Given the description of an element on the screen output the (x, y) to click on. 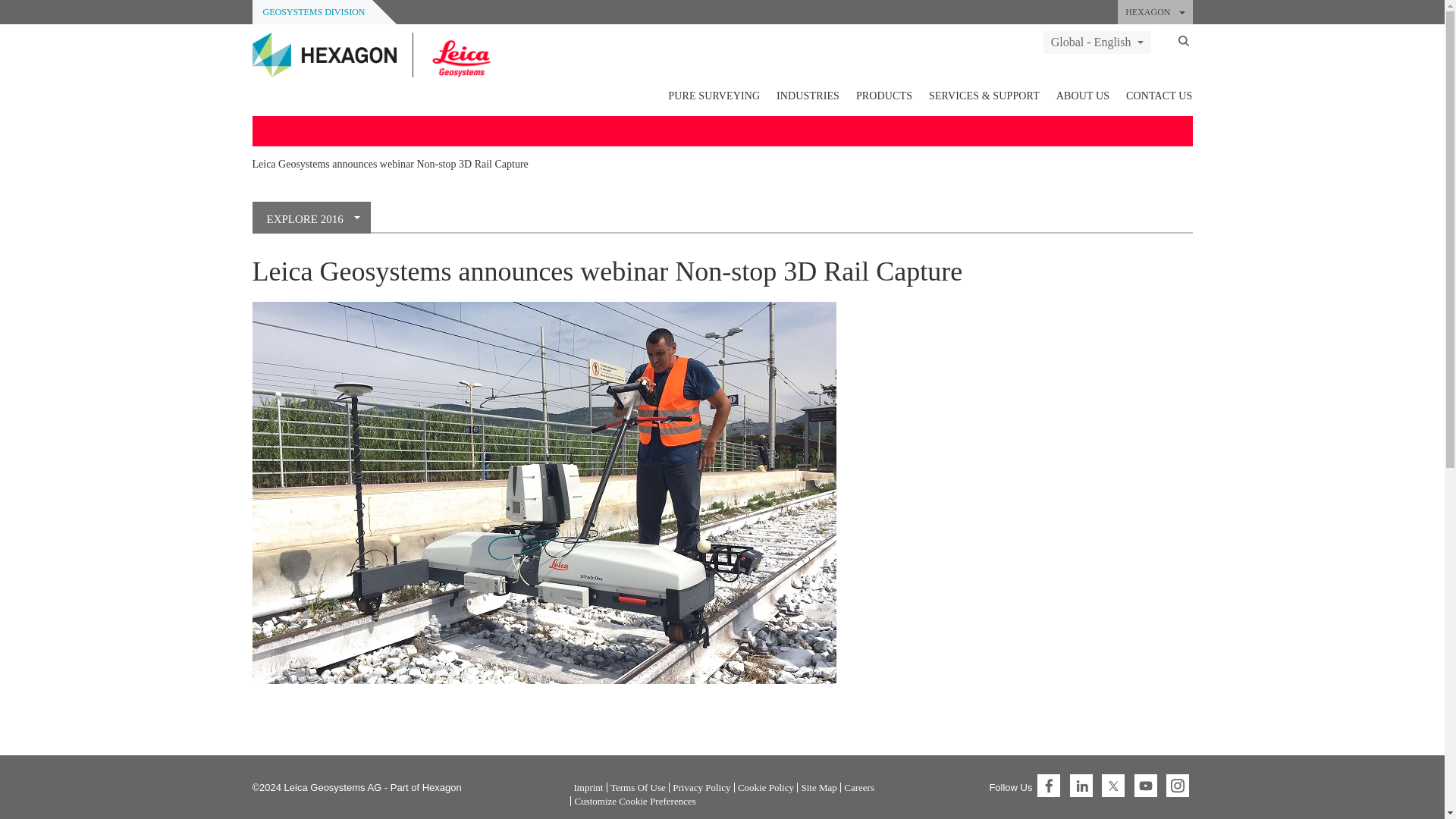
YouTube (1145, 784)
Search (1183, 40)
Customize Cookie Preferences (634, 800)
HEXAGON (1155, 12)
Hexagon (441, 787)
LinkedIn (1081, 784)
Facebook (1047, 784)
GEOSYSTEMS DIVISION (312, 11)
Twitter (1113, 784)
